Given the description of an element on the screen output the (x, y) to click on. 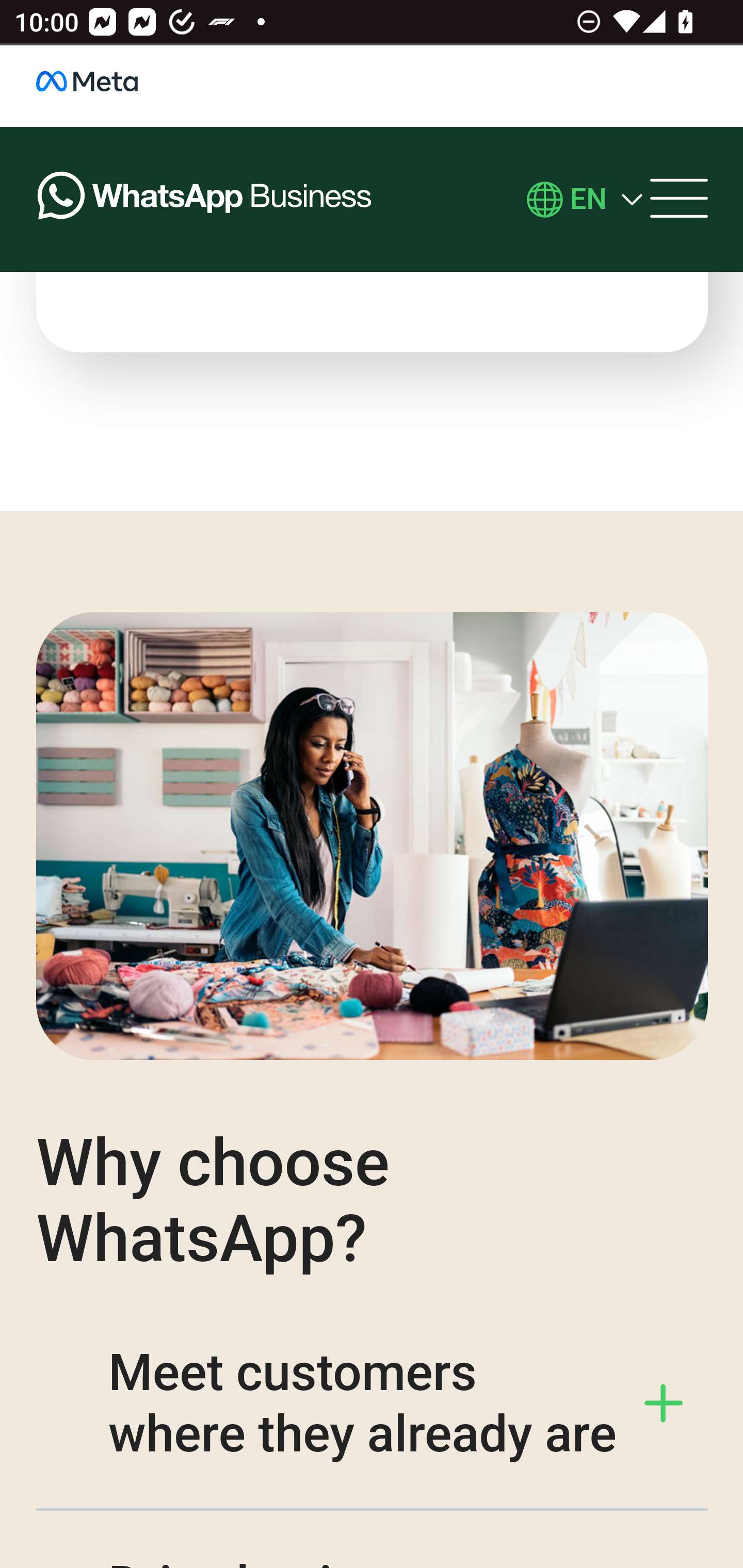
business (108, 85)
WhatsApp for Business logo (204, 200)
EN (588, 200)
Meet customers where they already are (372, 1404)
